Given the description of an element on the screen output the (x, y) to click on. 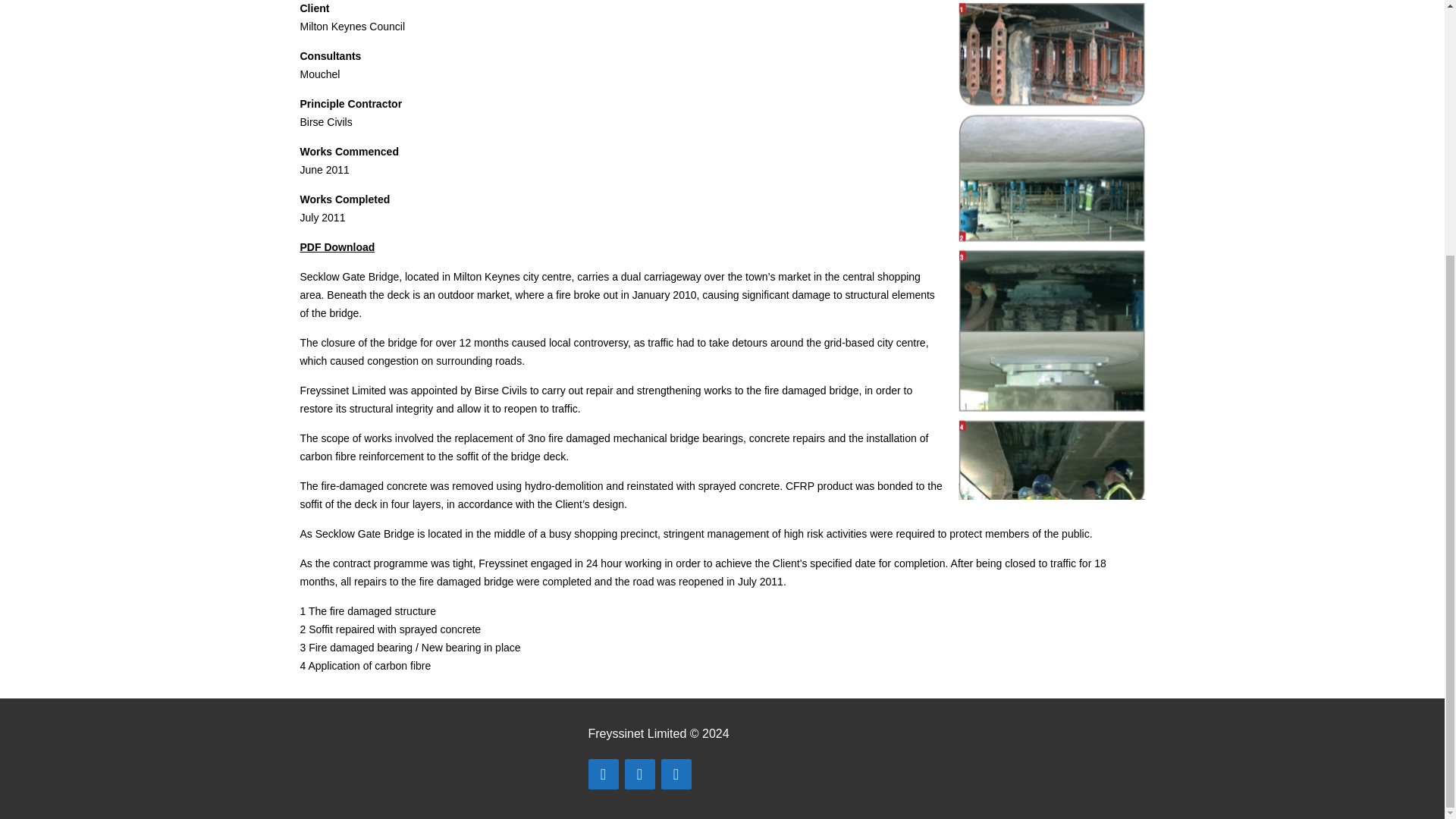
YouTube (639, 774)
LinkedIn (676, 774)
Twitter (603, 774)
